Given the description of an element on the screen output the (x, y) to click on. 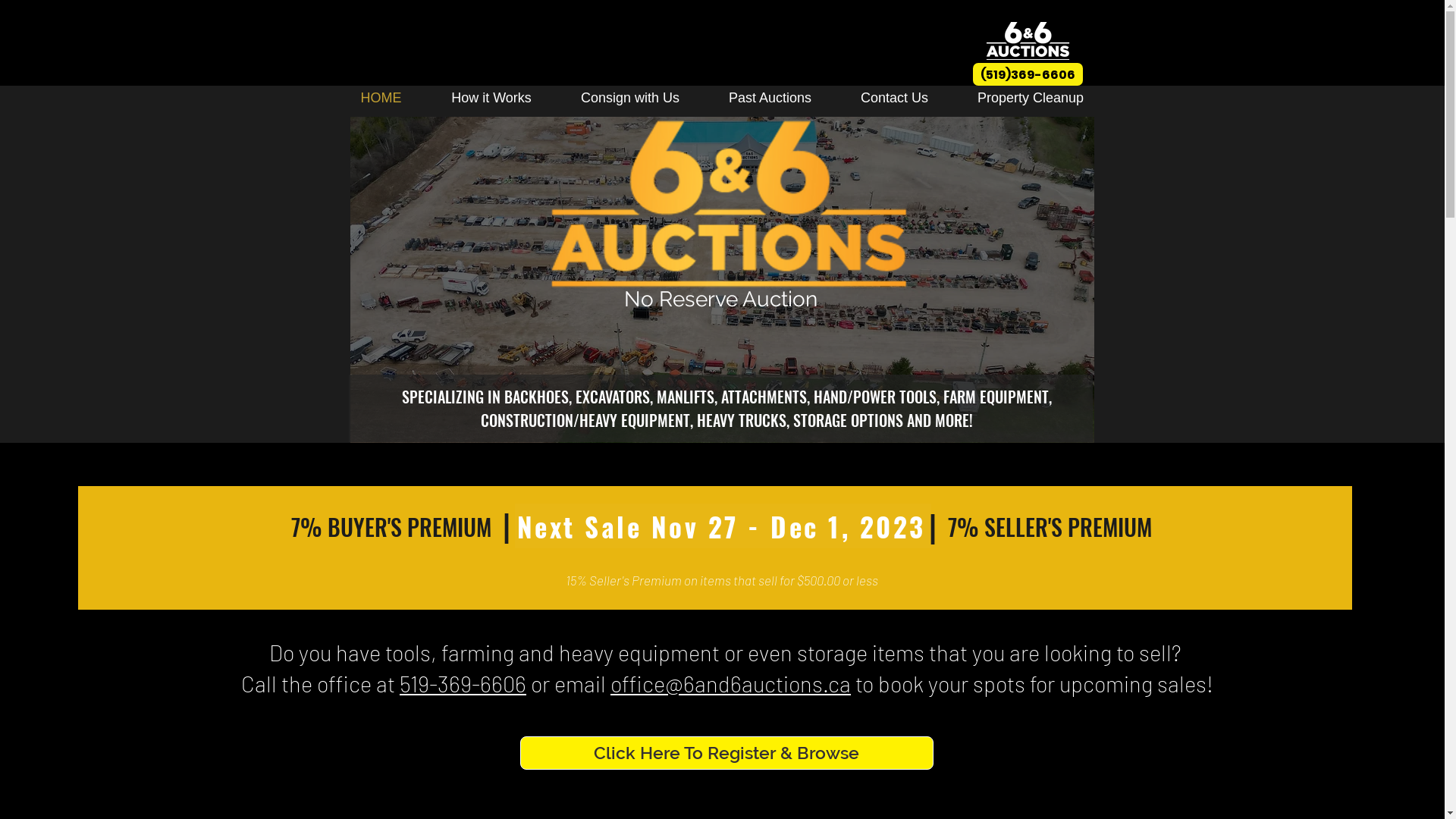
Next Sale Nov 27 - Dec 1, 2023 Element type: text (722, 525)
Contact Us Element type: text (893, 97)
Click Here To Register & Browse Element type: text (726, 752)
Property Cleanup Element type: text (1029, 97)
(519)369-6606 Element type: text (1027, 73)
office@6and6auctions.ca Element type: text (730, 683)
Consign with Us Element type: text (630, 97)
How it Works Element type: text (490, 97)
HOME Element type: text (380, 97)
Past Auctions Element type: text (769, 97)
